Given the description of an element on the screen output the (x, y) to click on. 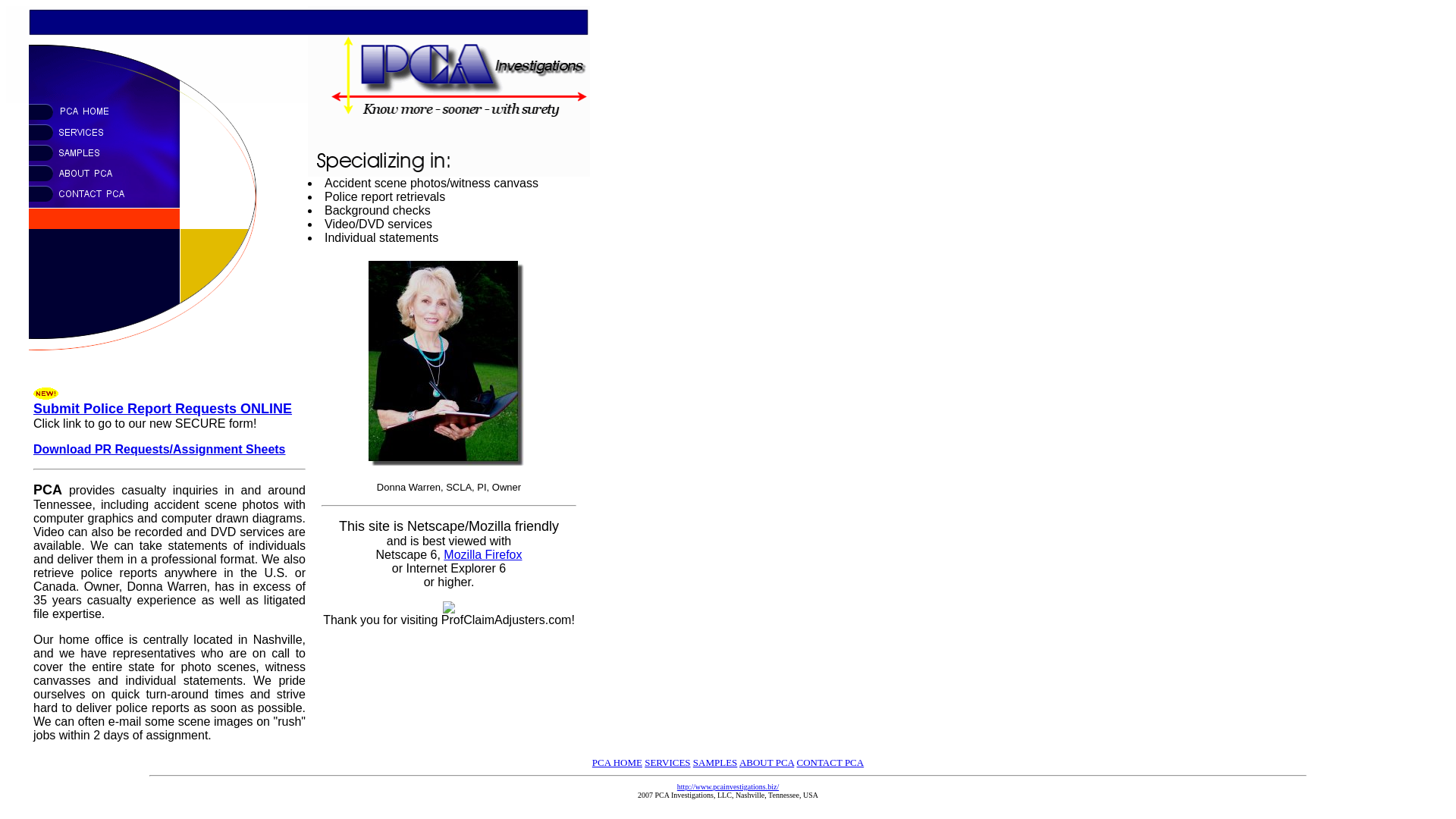
Mozilla Firefox (482, 554)
ABOUT PCA (766, 762)
PCA HOME (617, 762)
CONTACT PCA (830, 762)
SAMPLES (715, 762)
Submit Police Report Requests ONLINE (162, 408)
SERVICES (667, 762)
